Given the description of an element on the screen output the (x, y) to click on. 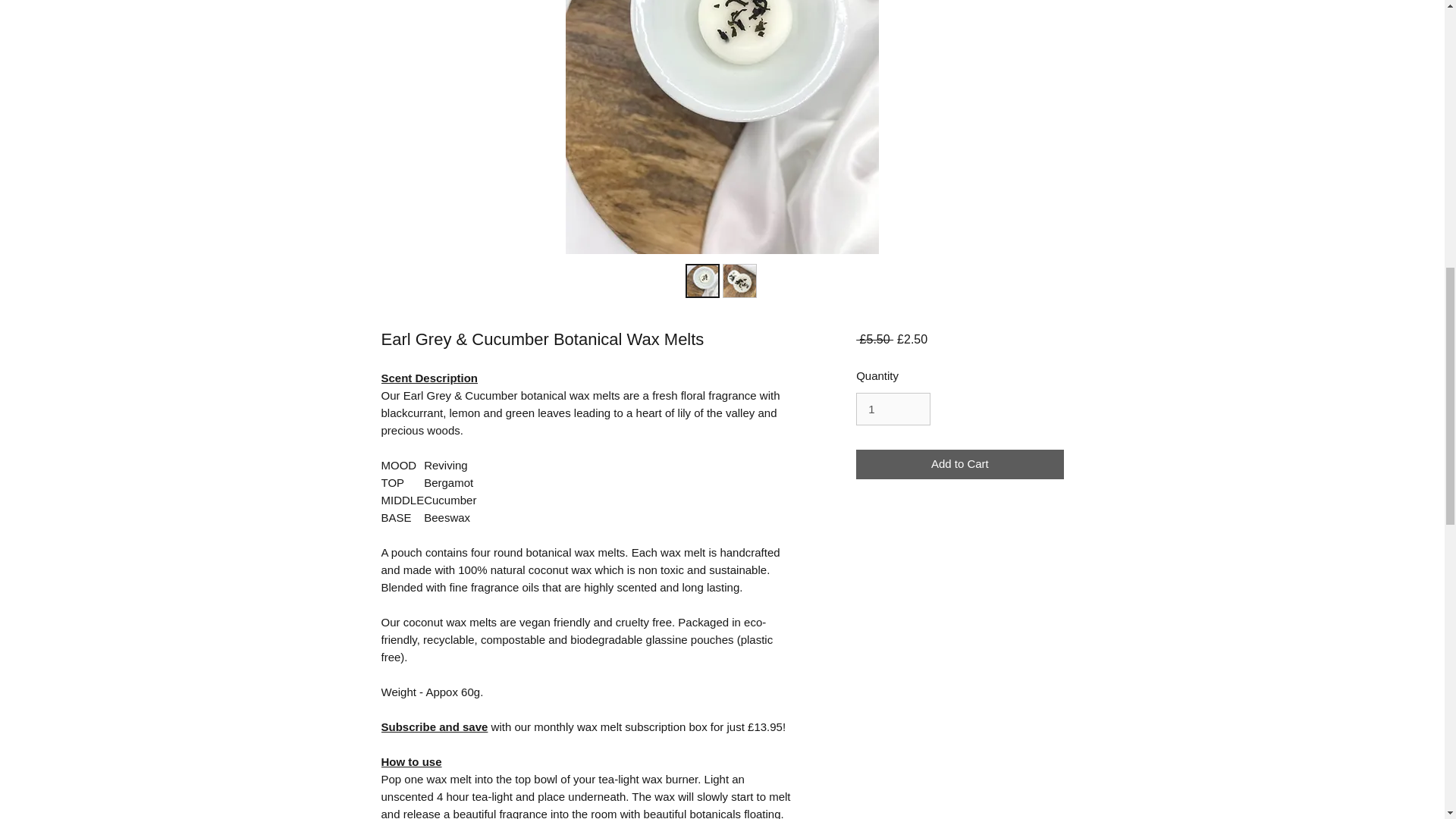
Subscribe and save (433, 726)
1 (893, 409)
Add to Cart (959, 464)
